Given the description of an element on the screen output the (x, y) to click on. 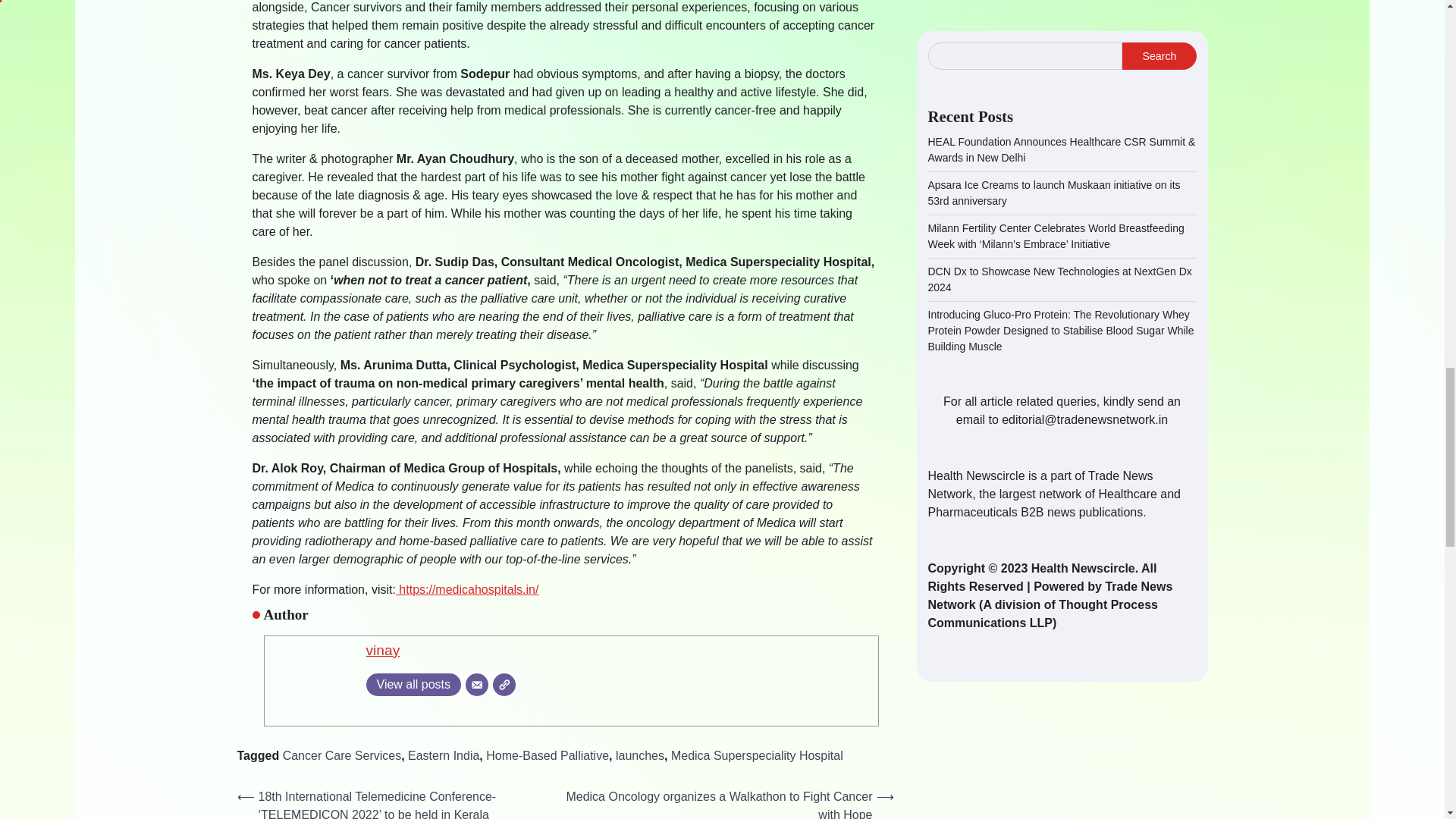
Cancer Care Services (341, 755)
View all posts (413, 684)
Eastern India (443, 755)
vinay (381, 650)
View all posts (413, 684)
Medica Superspeciality Hospital (757, 755)
launches (639, 755)
Home-Based Palliative (547, 755)
vinay (381, 650)
